Given the description of an element on the screen output the (x, y) to click on. 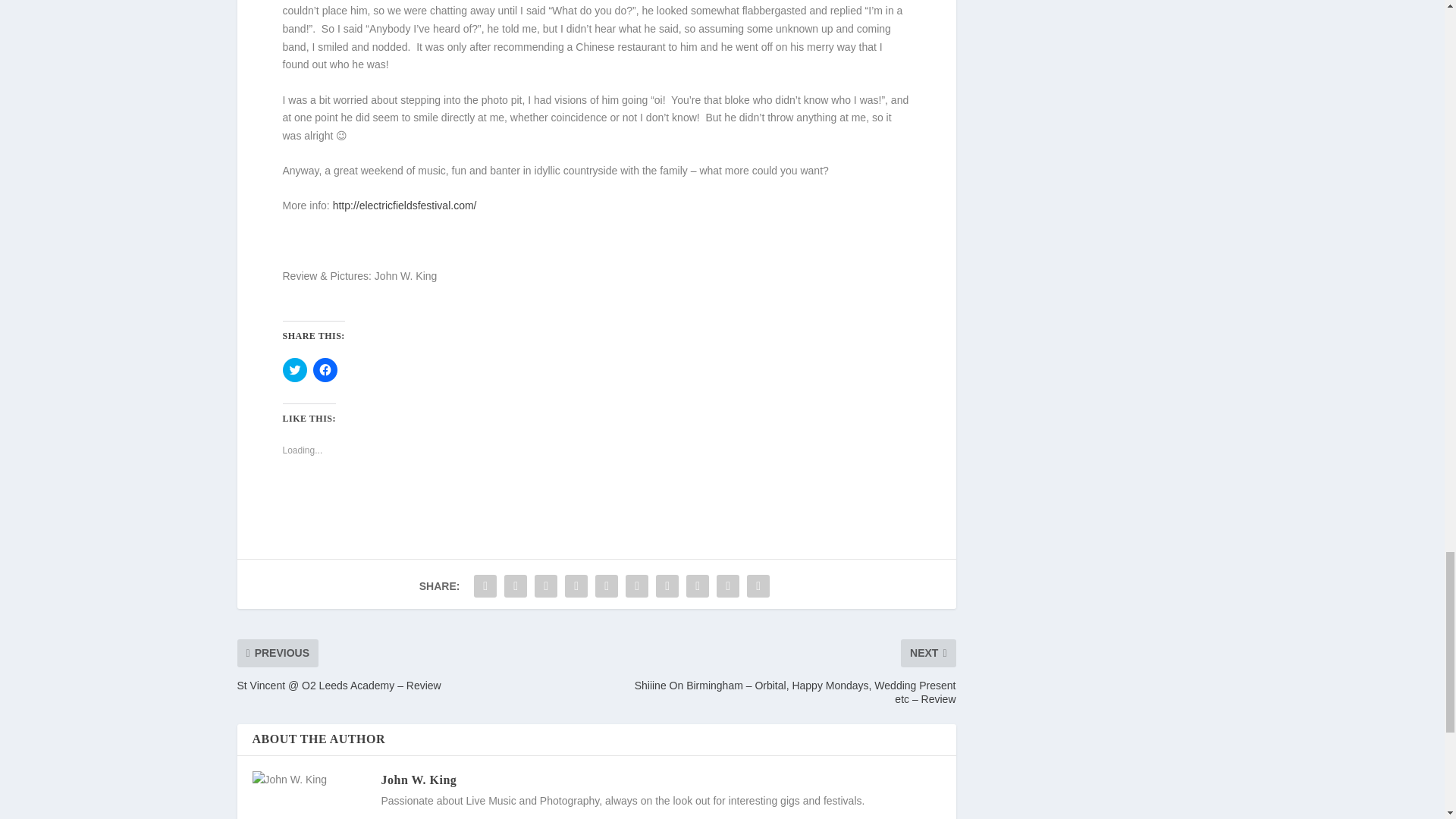
Click to share on Twitter (293, 369)
John W. King (418, 779)
Click to share on Facebook (324, 369)
